Given the description of an element on the screen output the (x, y) to click on. 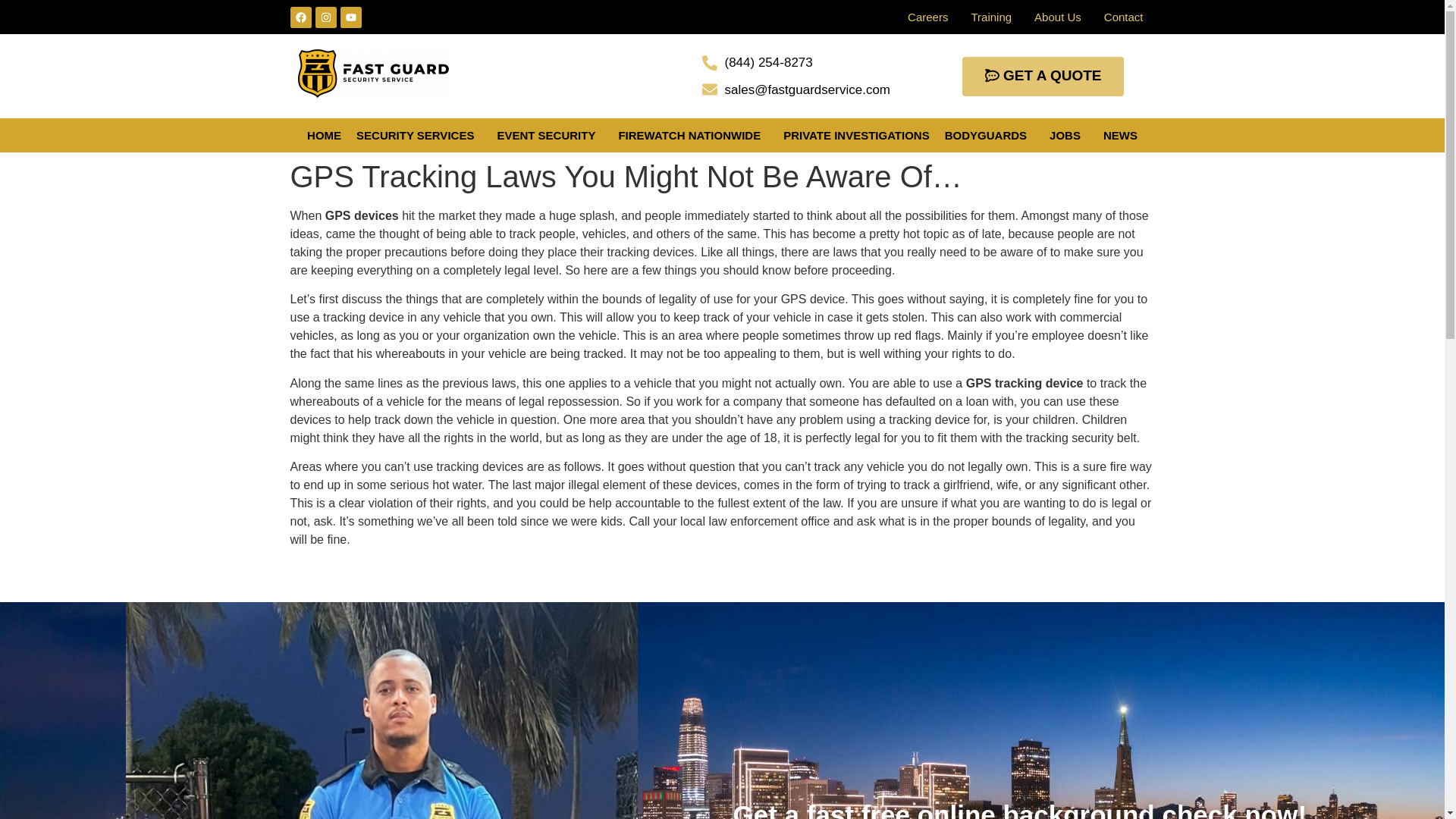
JOBS (1069, 134)
Training (991, 17)
About Us (1058, 17)
GET A QUOTE (1043, 75)
HOME (324, 134)
FIREWATCH NATIONWIDE (693, 134)
Careers (927, 17)
SECURITY SERVICES (419, 134)
EVENT SECURITY (549, 134)
PRIVATE INVESTIGATIONS (856, 134)
BODYGUARDS (989, 134)
Contact (1123, 17)
